Given the description of an element on the screen output the (x, y) to click on. 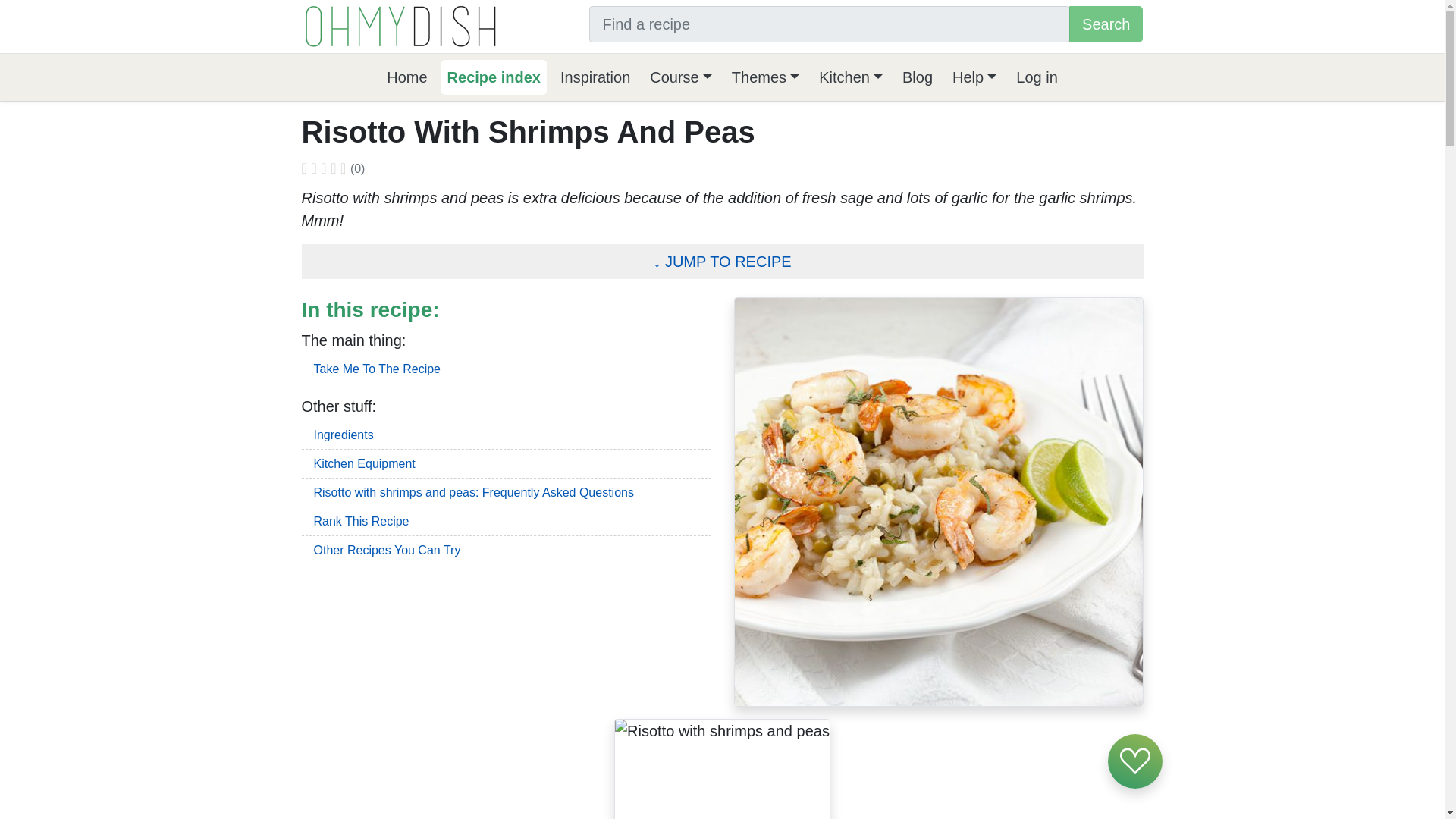
Search (1105, 23)
Average score (333, 169)
Inspiration (595, 77)
Themes (765, 77)
Average score (343, 169)
Search (1105, 23)
Average score (313, 169)
Recipe index (494, 77)
Average score (304, 169)
Course (680, 77)
Average score (323, 169)
